Given the description of an element on the screen output the (x, y) to click on. 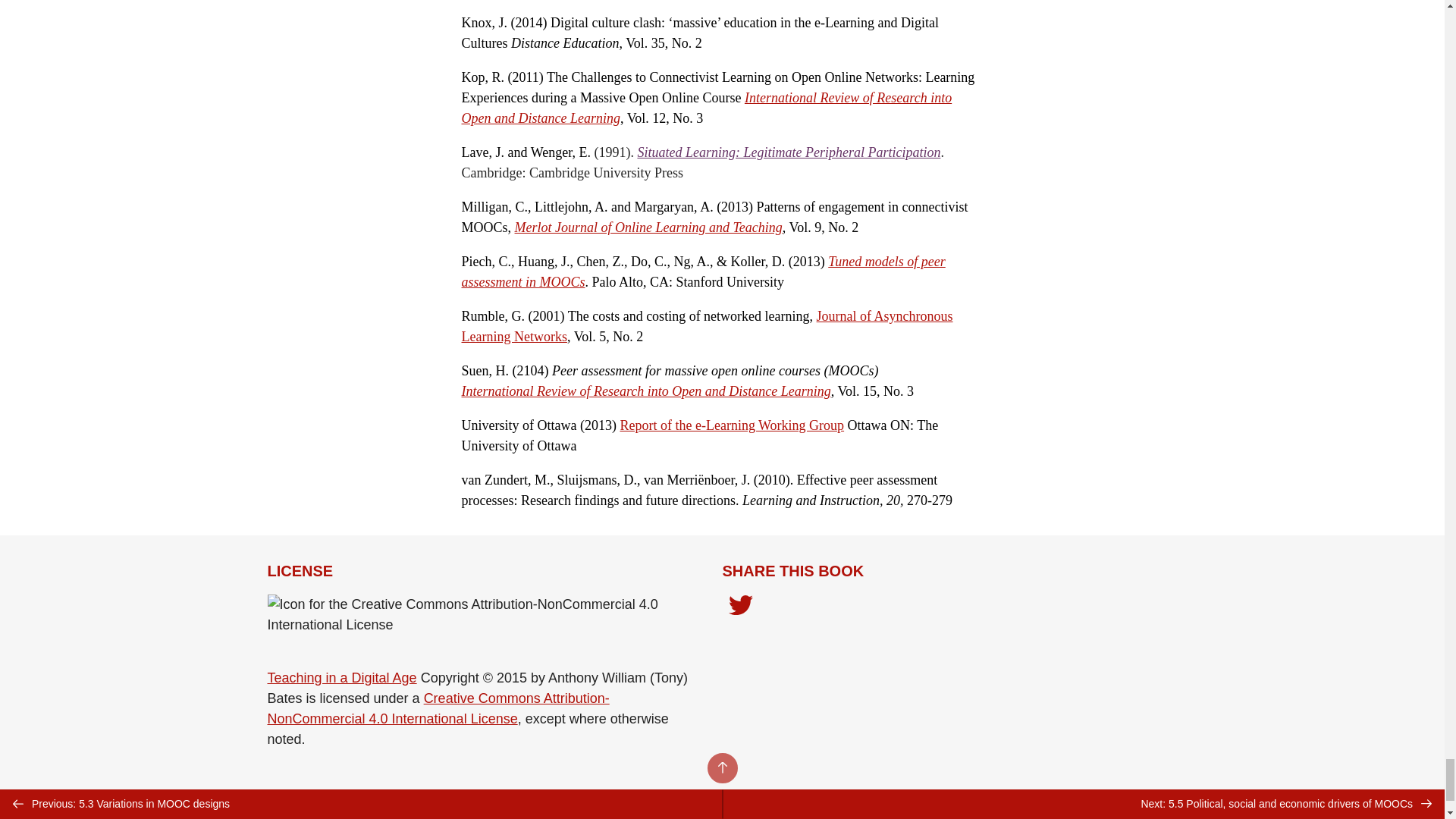
Share on Twitter (740, 606)
